Given the description of an element on the screen output the (x, y) to click on. 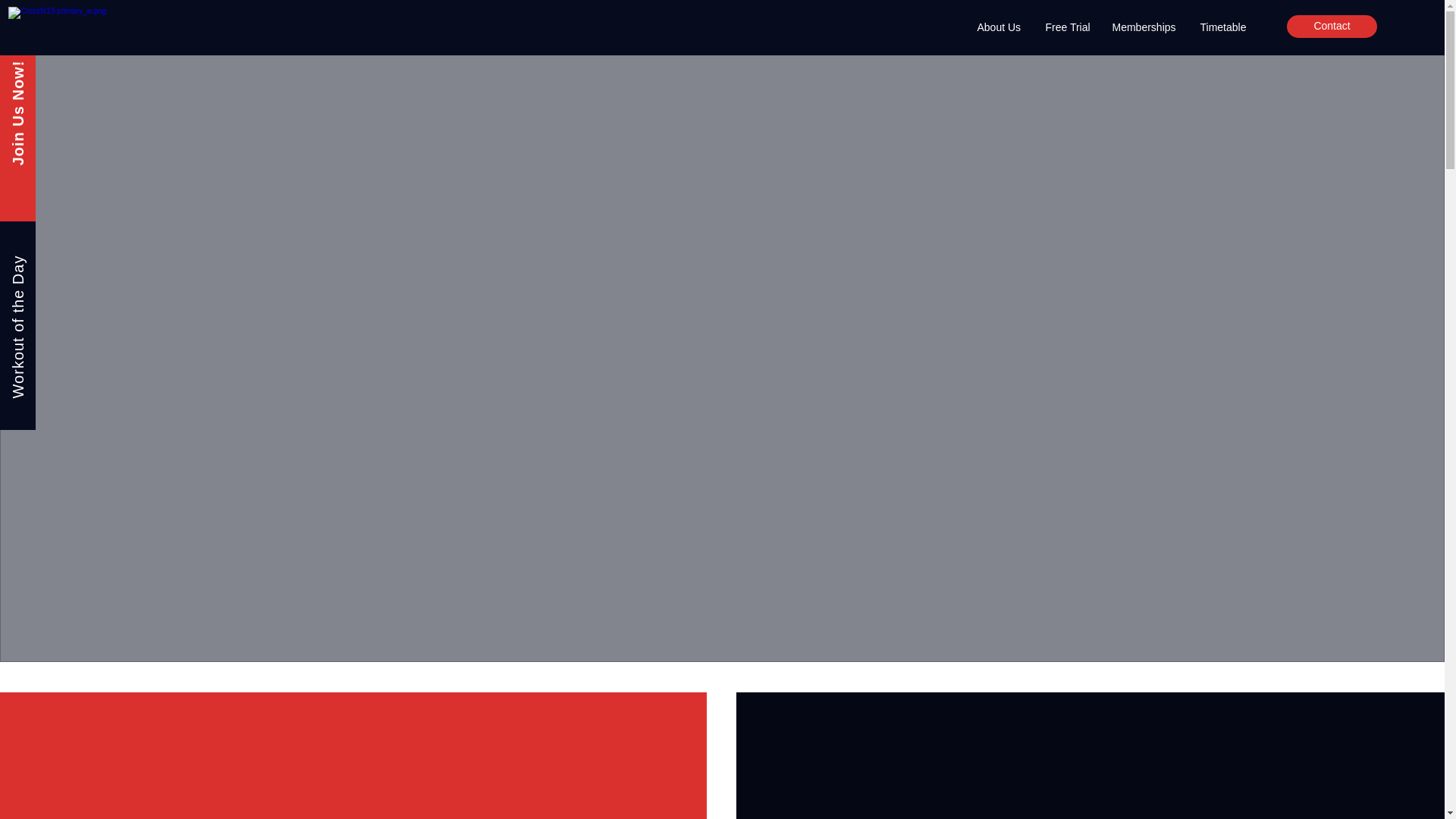
Memberships (1144, 26)
Workout of the Day (80, 263)
Timetable (1224, 26)
Free Trial (1066, 26)
Contact (1332, 26)
About Us (999, 26)
Join Us Now! (61, 68)
